Given the description of an element on the screen output the (x, y) to click on. 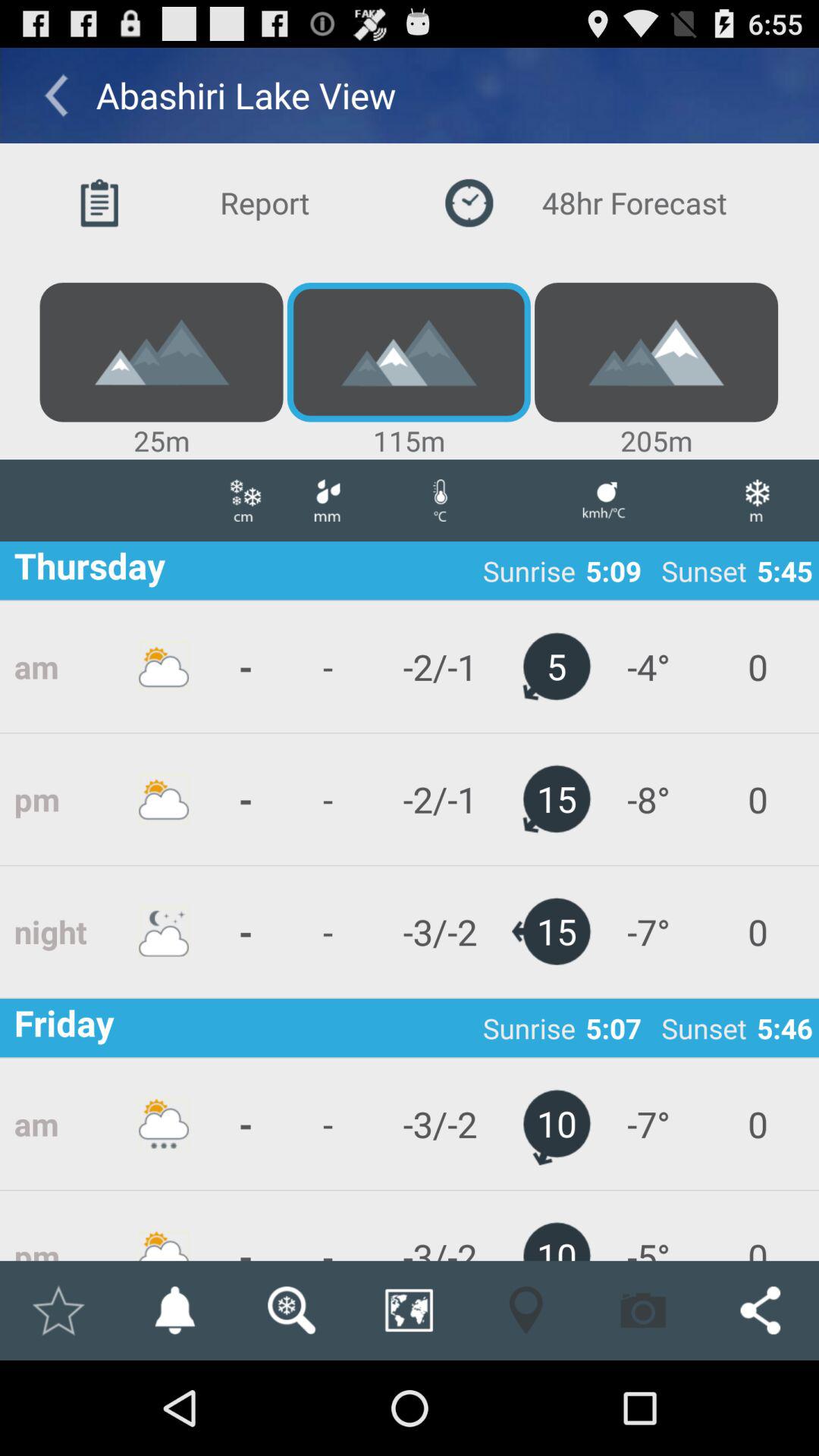
click the - app (245, 1225)
